Given the description of an element on the screen output the (x, y) to click on. 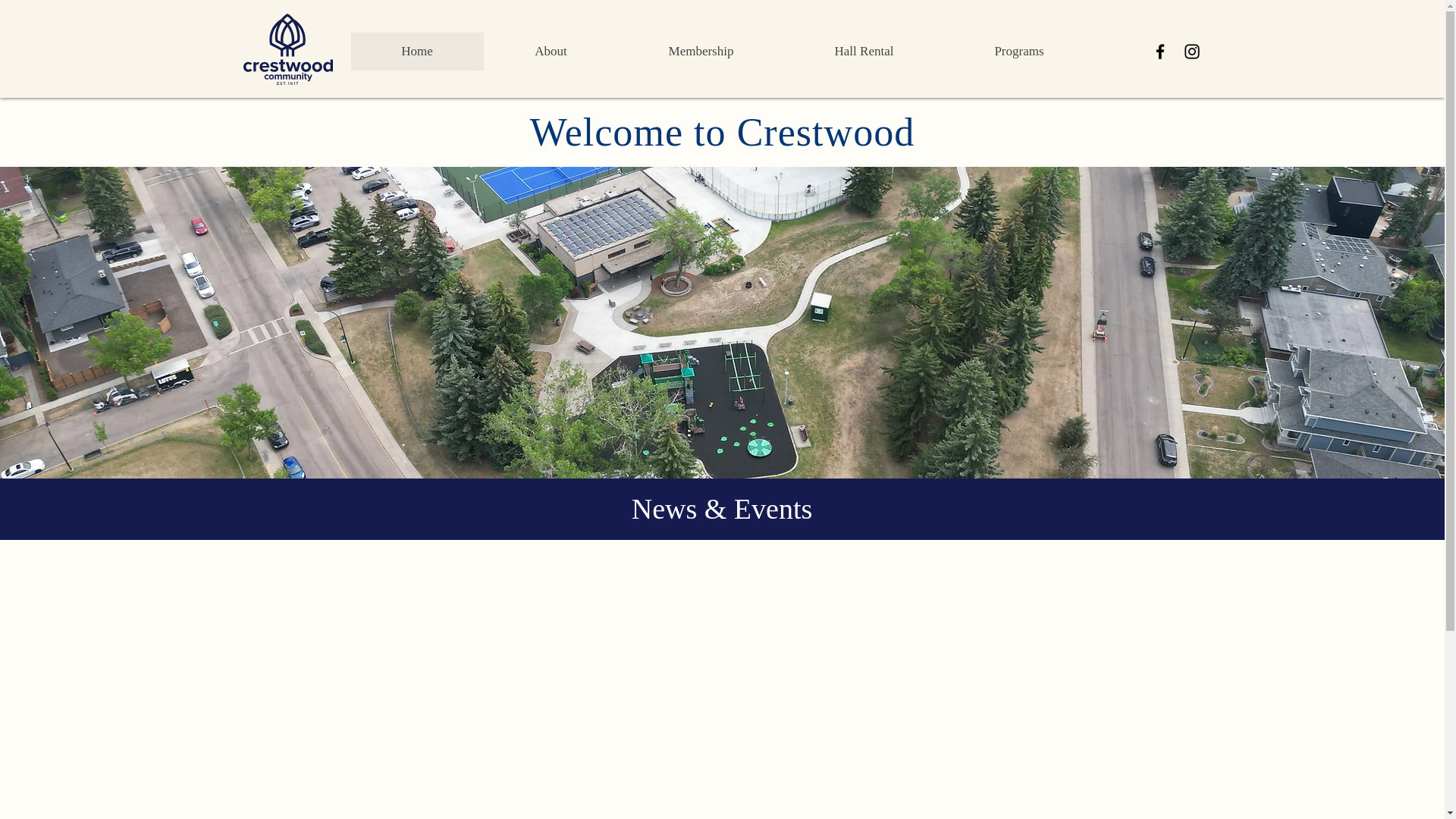
Hall Rental Element type: text (864, 51)
Home Element type: text (416, 51)
Programs Element type: text (1018, 51)
About Element type: text (550, 51)
Membership Element type: text (700, 51)
